Given the description of an element on the screen output the (x, y) to click on. 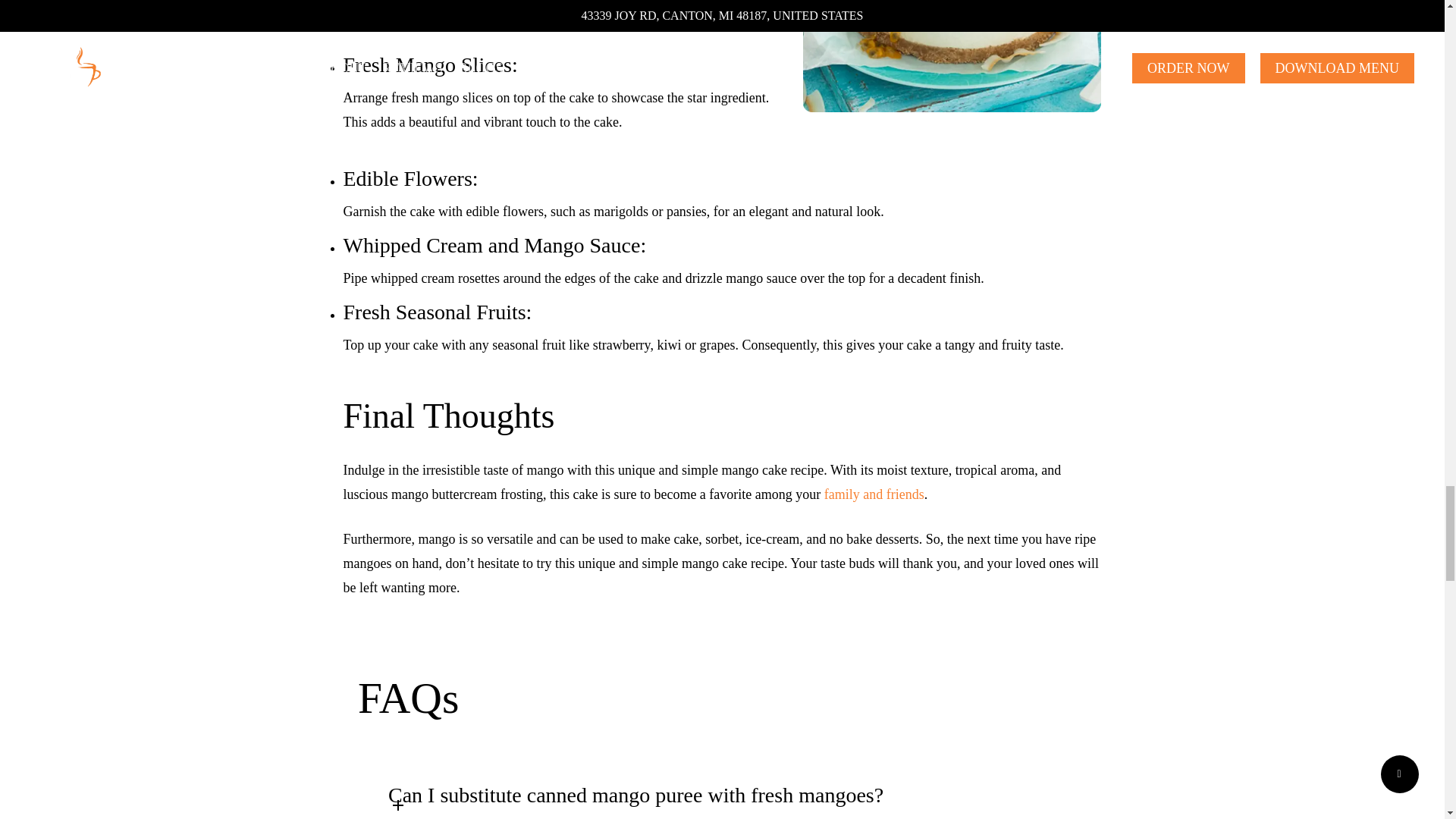
family and friends (874, 494)
Can I substitute canned mango puree with fresh mangoes? (662, 789)
